Given the description of an element on the screen output the (x, y) to click on. 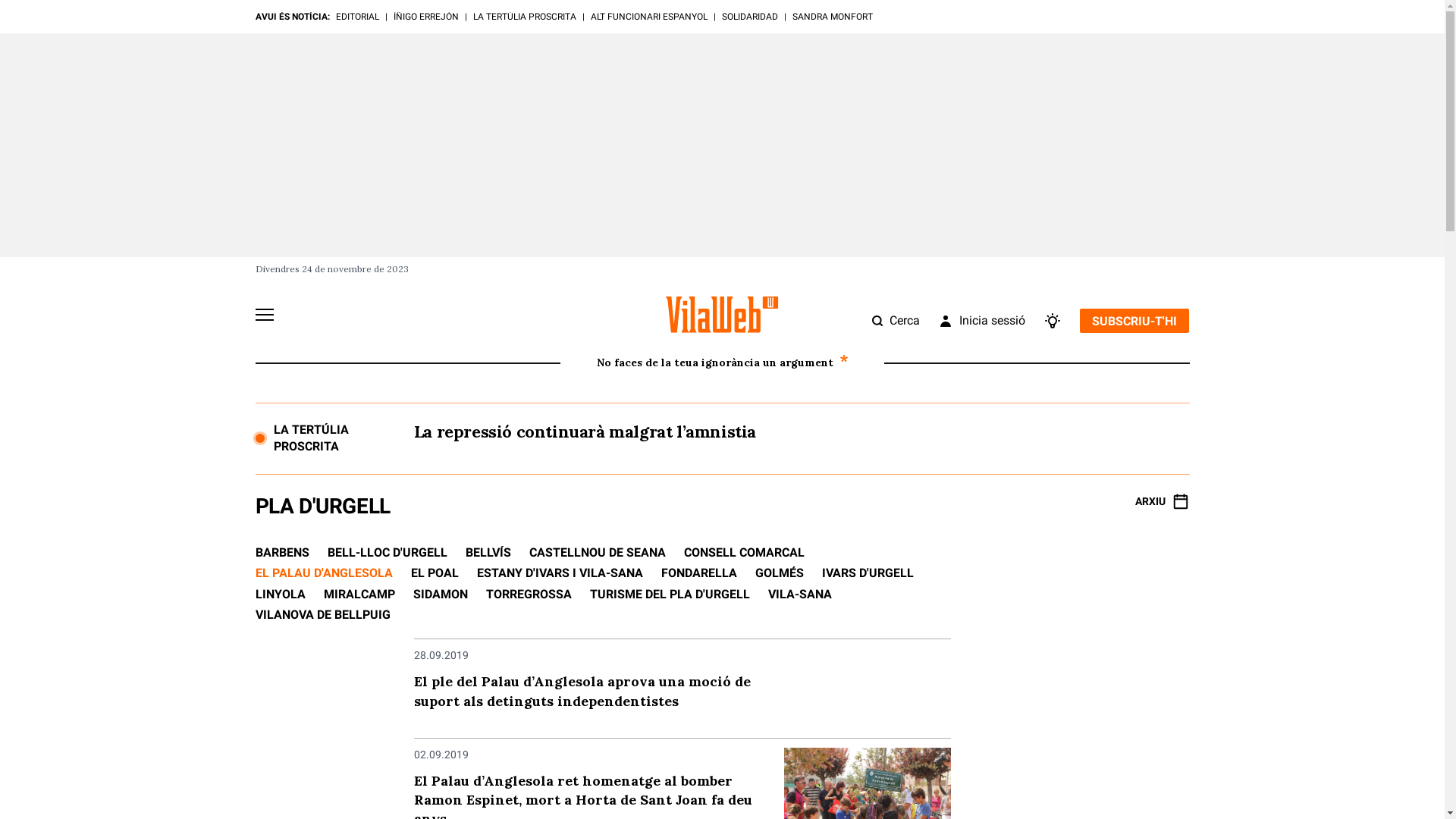
CASTELLNOU DE SEANA Element type: text (597, 552)
MIRALCAMP Element type: text (358, 593)
TORREGROSSA Element type: text (528, 593)
Cerca Element type: text (895, 320)
EDITORIAL Element type: text (356, 16)
BARBENS Element type: text (281, 552)
SOLIDARIDAD Element type: text (749, 16)
SIDAMON Element type: text (439, 593)
ALT FUNCIONARI ESPANYOL Element type: text (647, 16)
LINYOLA Element type: text (279, 593)
SANDRA MONFORT Element type: text (831, 16)
IVARS D'URGELL Element type: text (867, 572)
SUBSCRIU-T'HI Element type: text (1134, 320)
FONDARELLA Element type: text (699, 572)
BELL-LLOC D'URGELL Element type: text (387, 552)
VILA-SANA Element type: text (799, 593)
CONSELL COMARCAL Element type: text (744, 552)
ESTANY D'IVARS I VILA-SANA Element type: text (559, 572)
EL POAL Element type: text (434, 572)
TURISME DEL PLA D'URGELL Element type: text (669, 593)
VILANOVA DE BELLPUIG Element type: text (321, 614)
